Given the description of an element on the screen output the (x, y) to click on. 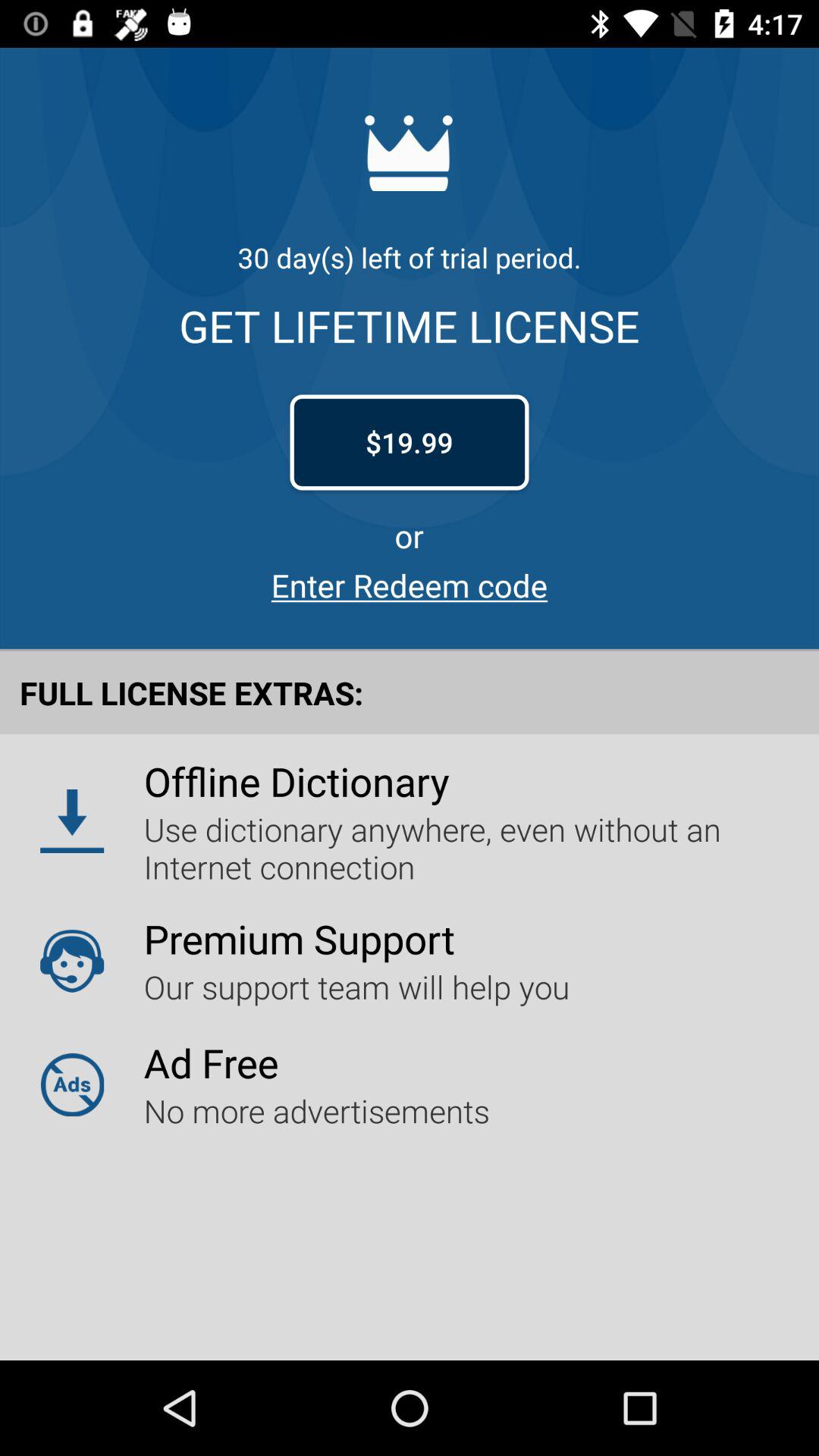
click app below the or (409, 584)
